Given the description of an element on the screen output the (x, y) to click on. 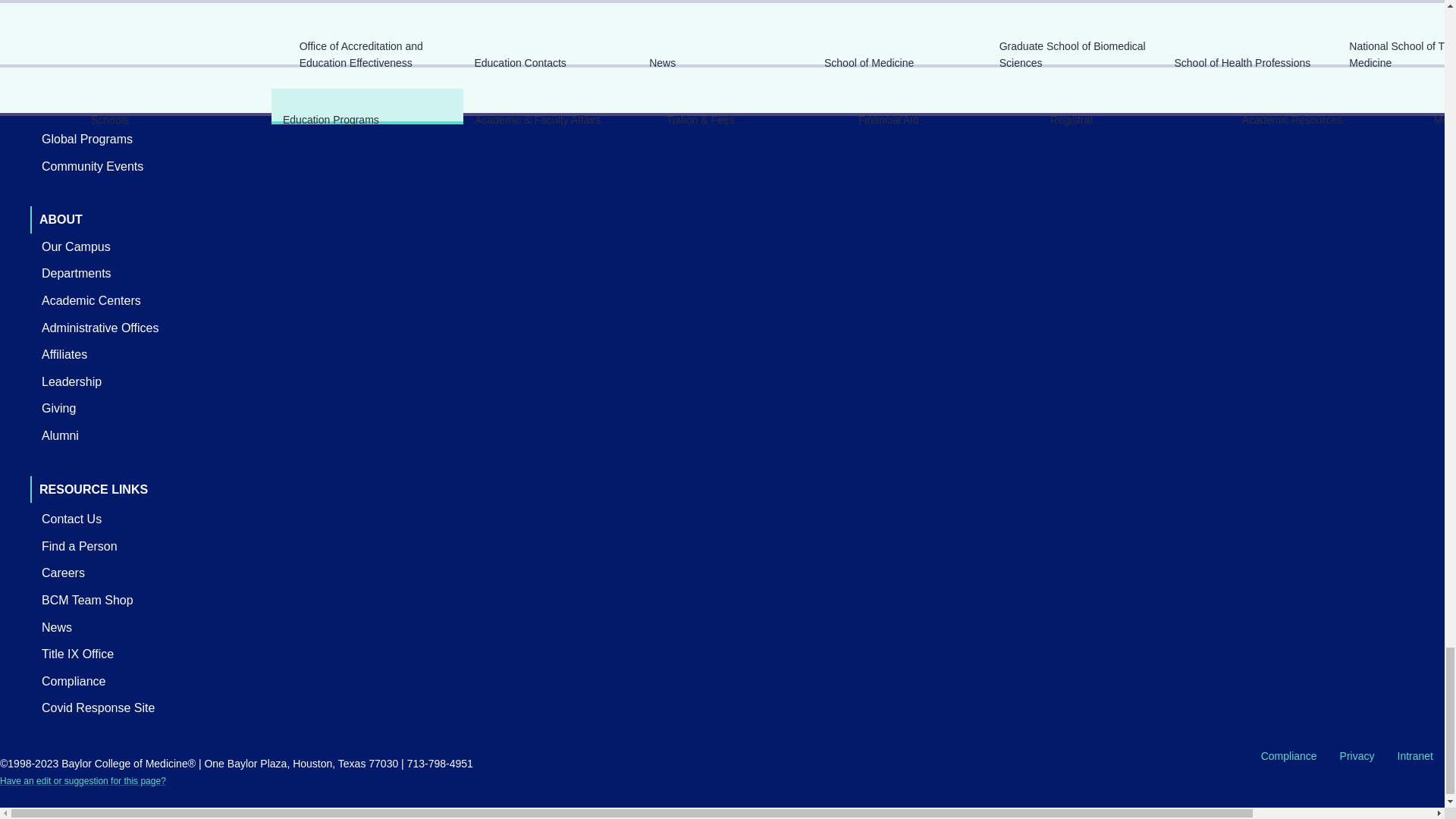
Web Request (82, 780)
Covid Response Site (97, 707)
Compliance (73, 680)
Title IX and Gender Discrimination (77, 653)
